Given the description of an element on the screen output the (x, y) to click on. 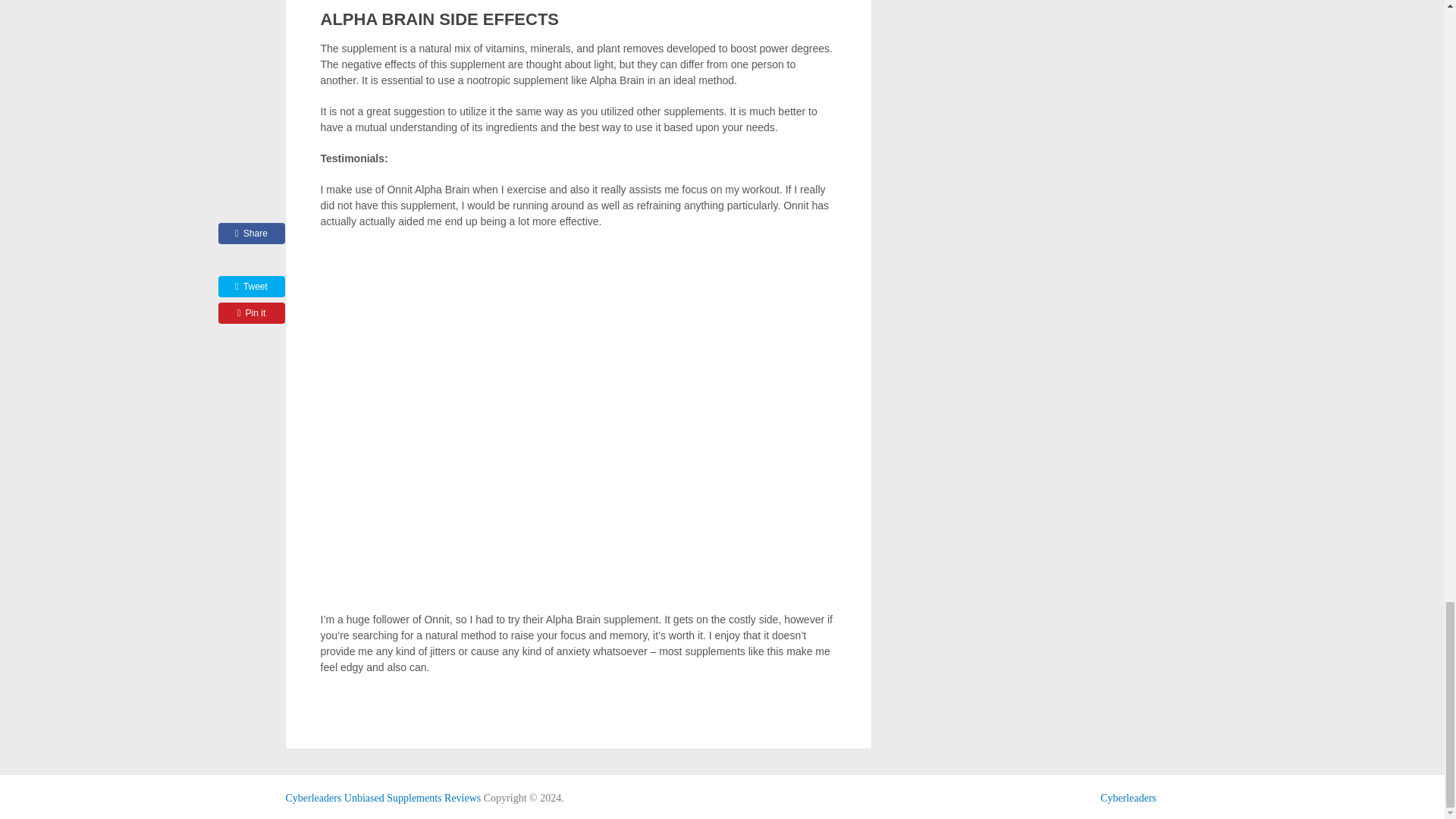
 The best supplements tested and reviewed for you (382, 797)
Cyberleaders Unbiased Supplements Reviews (382, 797)
Cyberleaders (1128, 797)
